Given the description of an element on the screen output the (x, y) to click on. 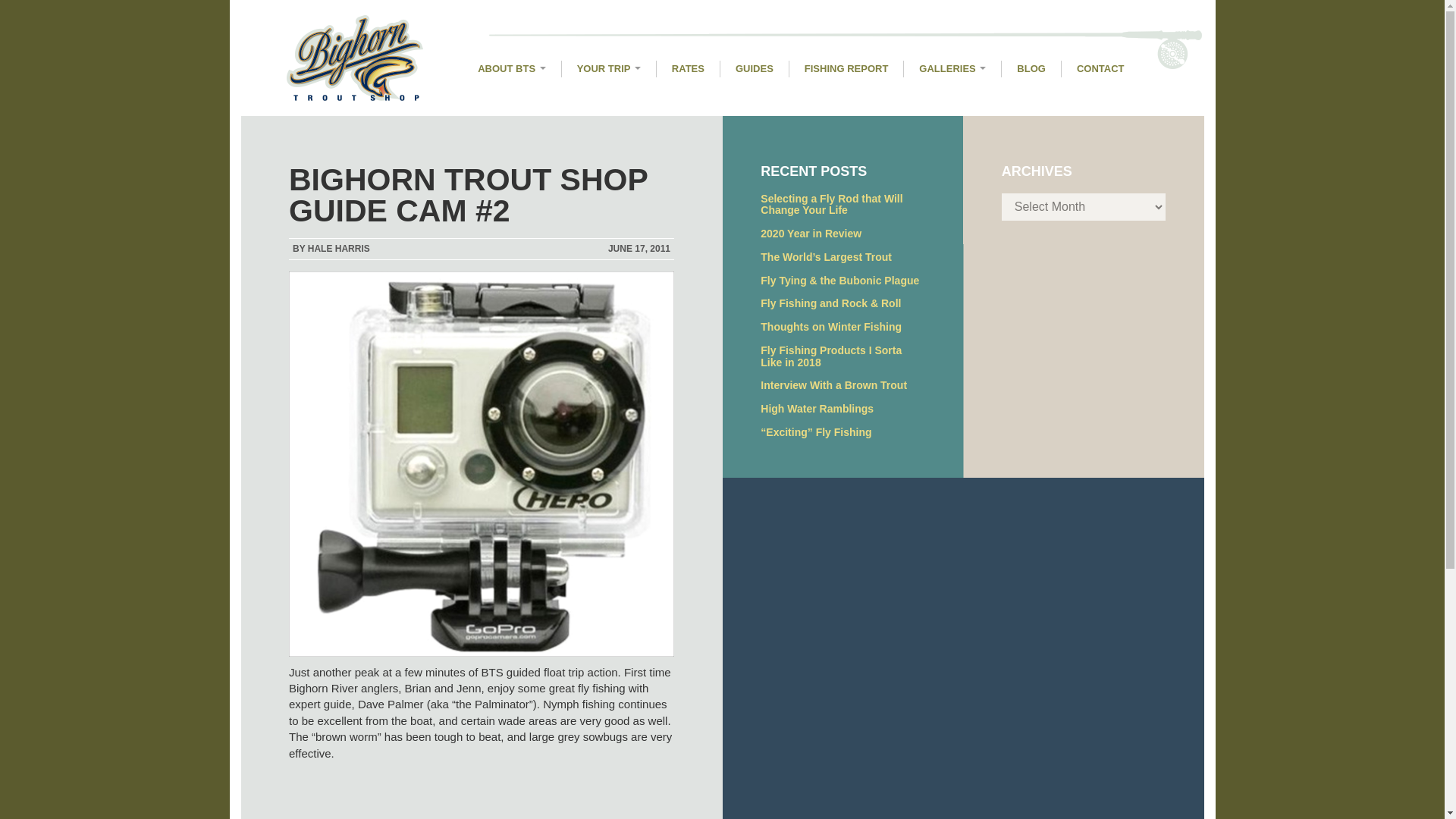
Selecting a Fly Rod that Will Change Your Life (831, 204)
CONTACT (1100, 68)
RATES (687, 68)
GALLERIES (952, 68)
2020 Year in Review (810, 233)
Galleries (952, 68)
Fly Fishing Products I Sorta Like in 2018 (830, 355)
About BTS (511, 68)
ABOUT BTS (511, 68)
YOUR TRIP (609, 68)
